Given the description of an element on the screen output the (x, y) to click on. 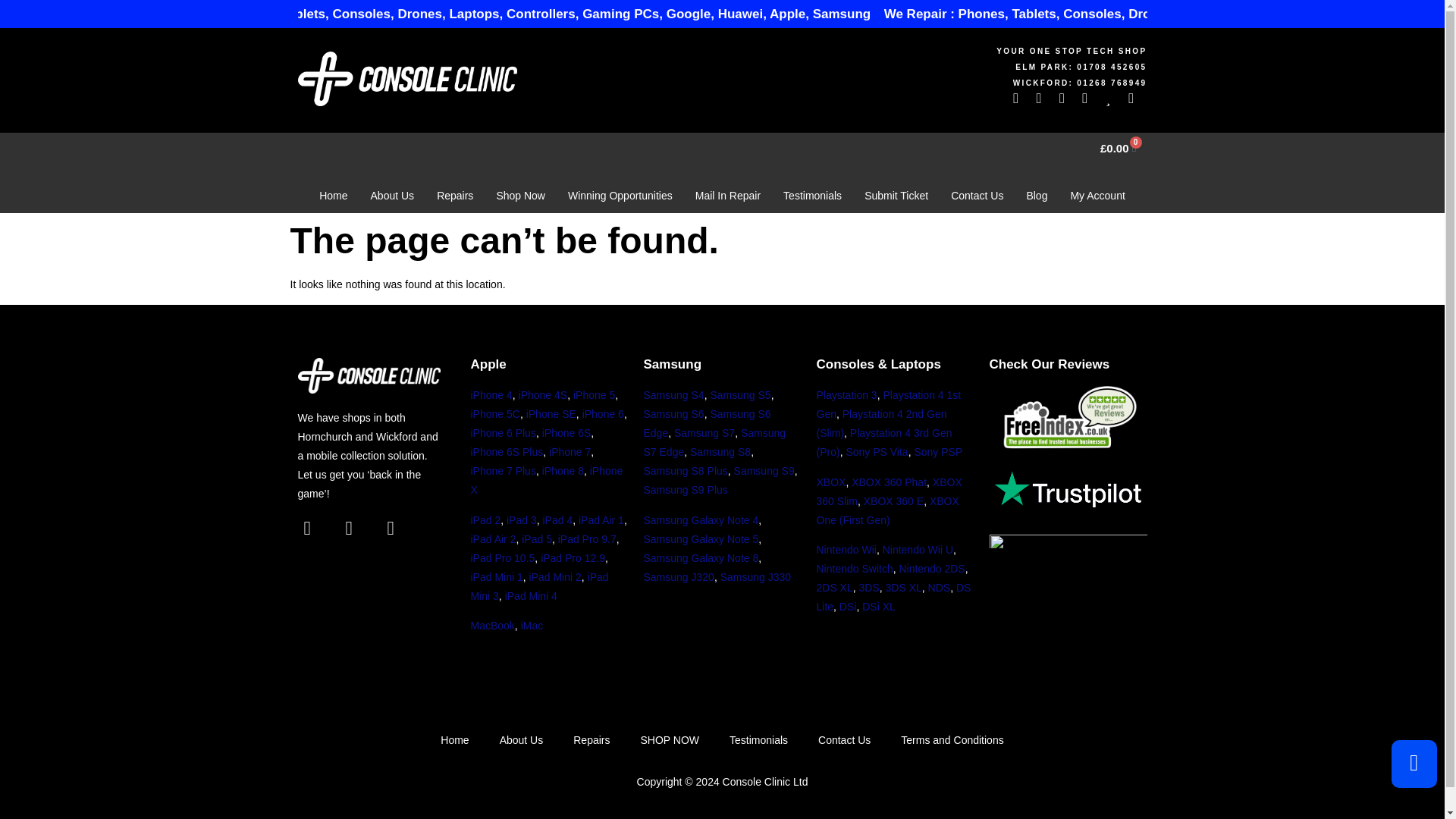
Blog (1036, 195)
Winning Opportunities (620, 195)
My Account (1096, 195)
ELM PARK: 01708 452605 (938, 66)
Mail In Repair (727, 195)
Submit Ticket (896, 195)
iPhone 4 (491, 395)
Repairs (454, 195)
WICKFORD: 01268 768949 (938, 82)
Home (332, 195)
